Given the description of an element on the screen output the (x, y) to click on. 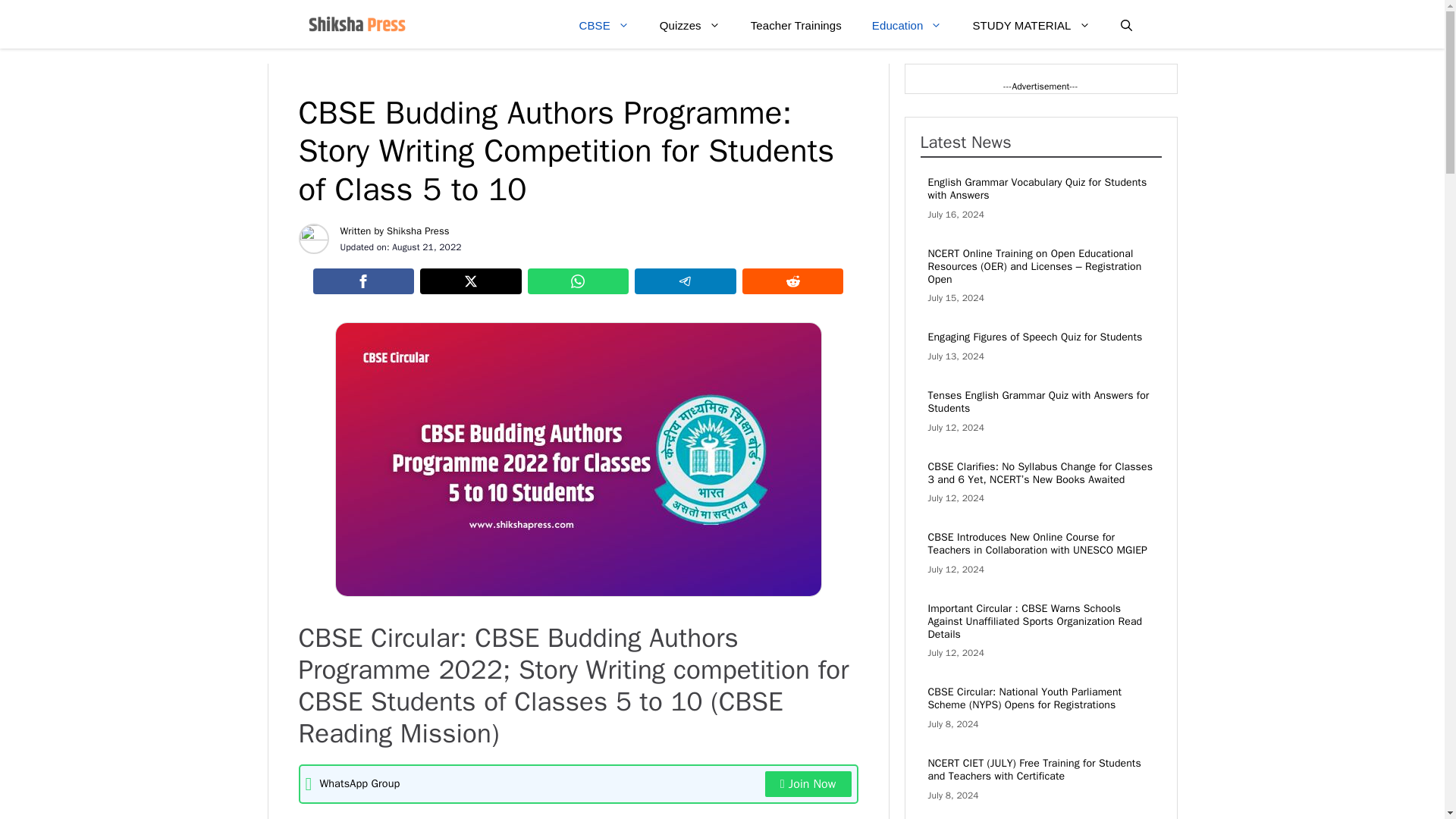
STUDY MATERIAL (1030, 25)
Shiksha Press (418, 230)
Education (907, 25)
Quizzes (690, 25)
Teacher Trainings (796, 25)
CBSE (604, 25)
